Given the description of an element on the screen output the (x, y) to click on. 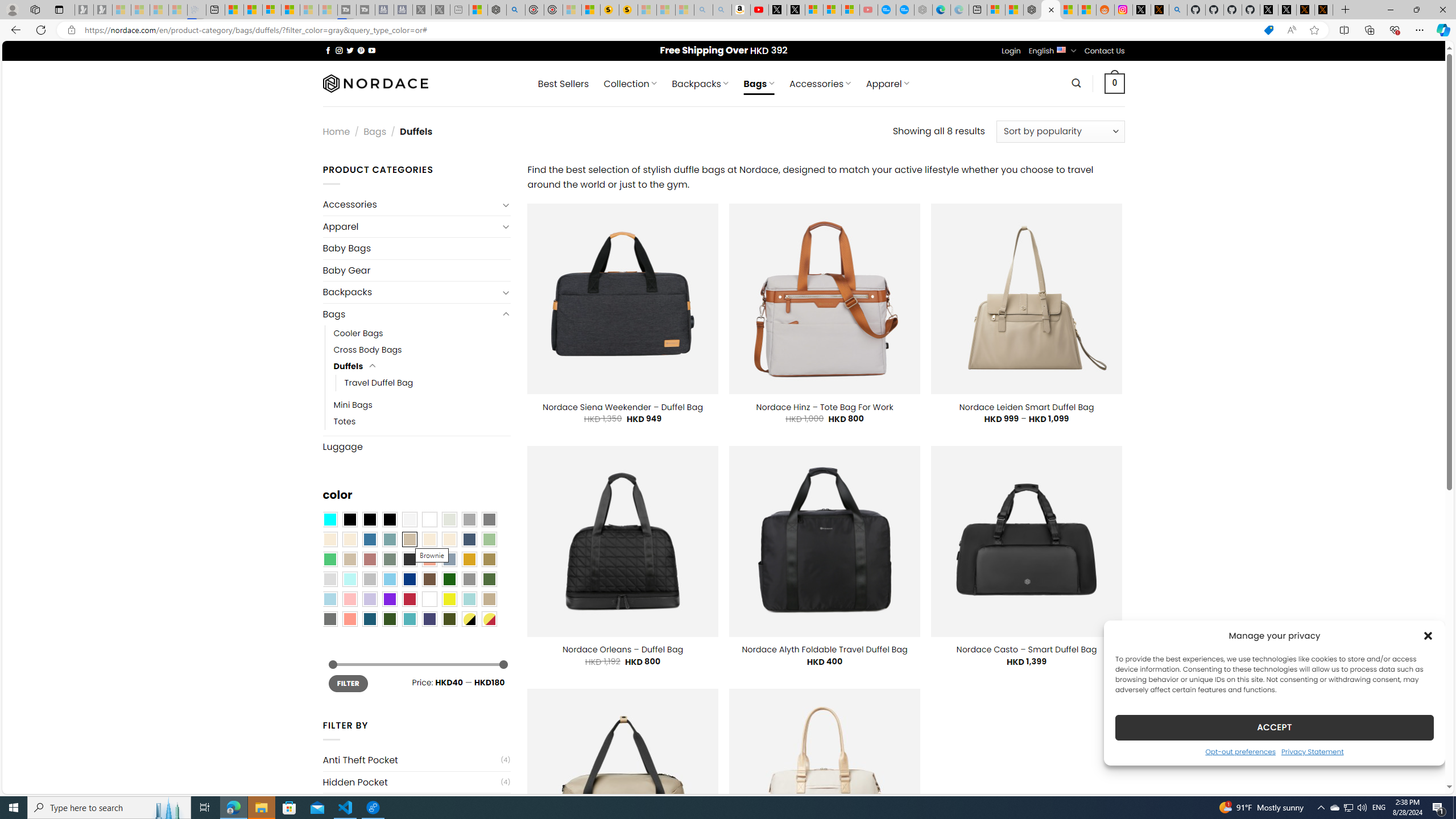
All Black (349, 519)
Black (369, 519)
help.x.com | 524: A timeout occurred (1159, 9)
White (429, 599)
Cross Body Bags (367, 349)
Light Blue (329, 599)
Nordace - Best Sellers (1032, 9)
Coral (429, 559)
Cooler Bags (357, 333)
Luggage (416, 446)
Nordace - Nordace has arrived Hong Kong - Sleeping (923, 9)
